Given the description of an element on the screen output the (x, y) to click on. 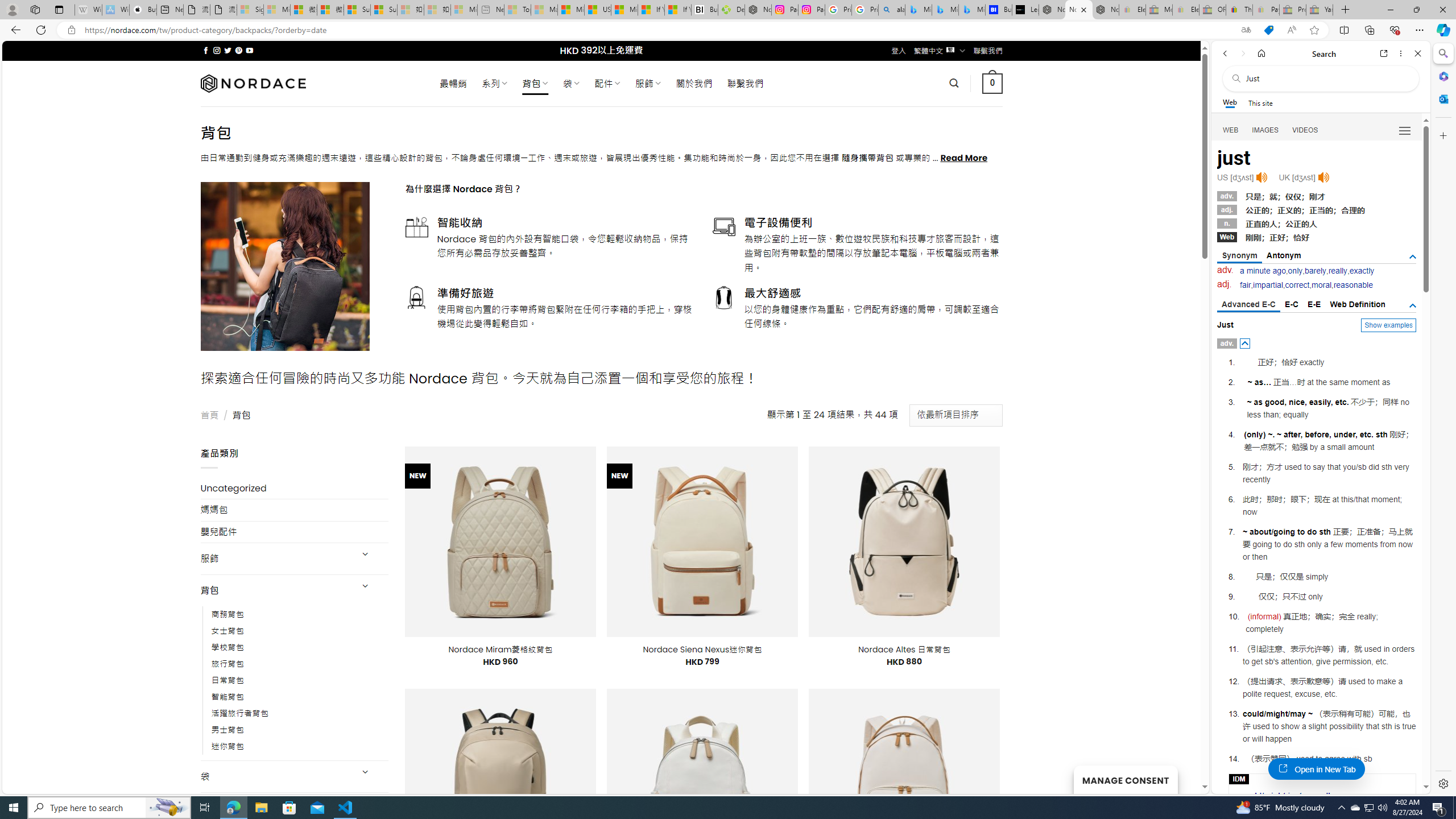
Synonym (1239, 255)
Uncategorized (294, 488)
reasonable (1353, 284)
Microsoft Bing Travel - Flights from Hong Kong to Bangkok (917, 9)
Top Stories - MSN - Sleeping (517, 9)
fair (1245, 284)
